Given the description of an element on the screen output the (x, y) to click on. 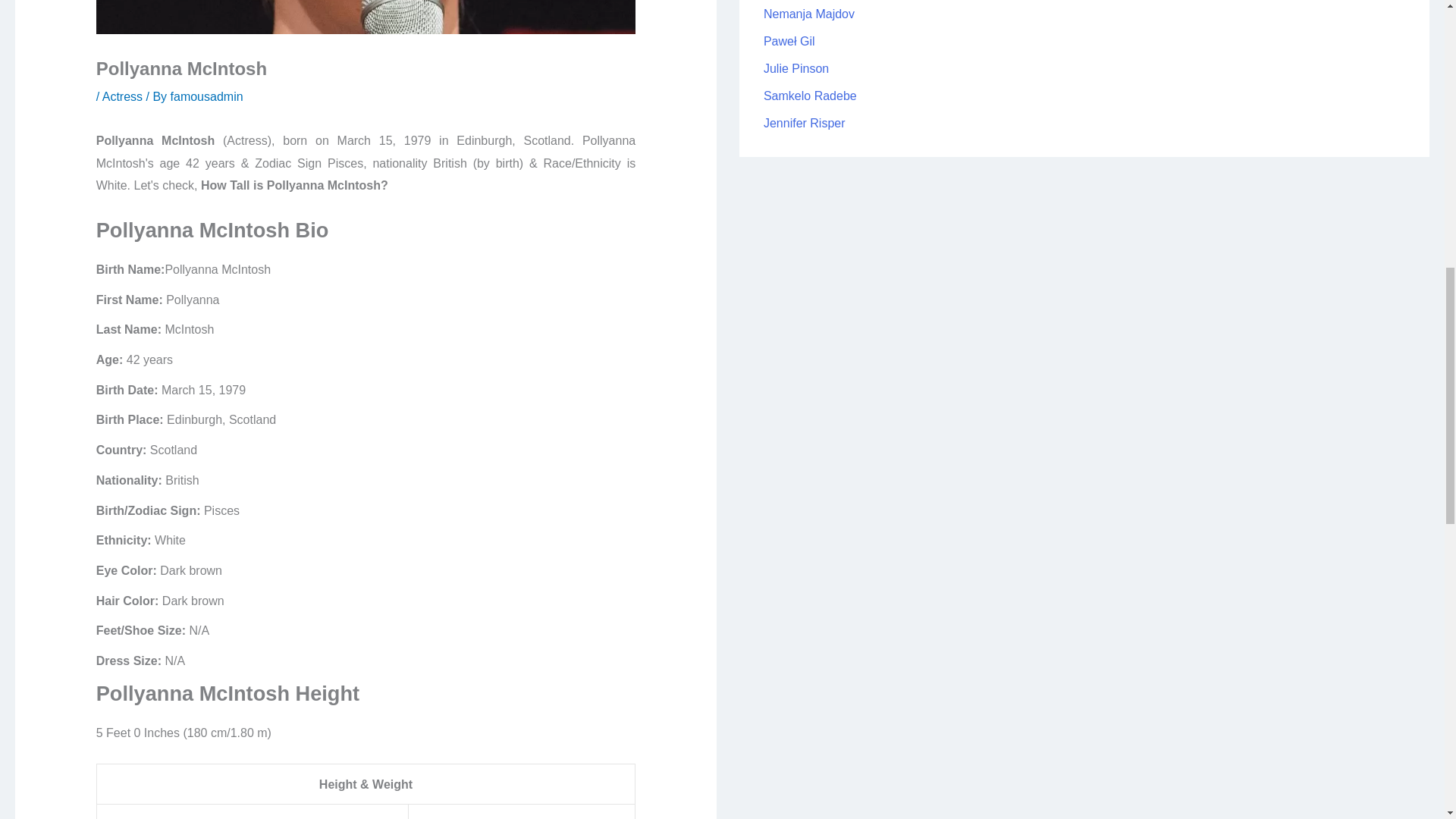
Actress (121, 96)
Jennifer Risper (803, 123)
famousadmin (206, 96)
Samkelo Radebe (809, 95)
Nemanja Majdov (808, 13)
Julie Pinson (795, 68)
View all posts by famousadmin (206, 96)
